Given the description of an element on the screen output the (x, y) to click on. 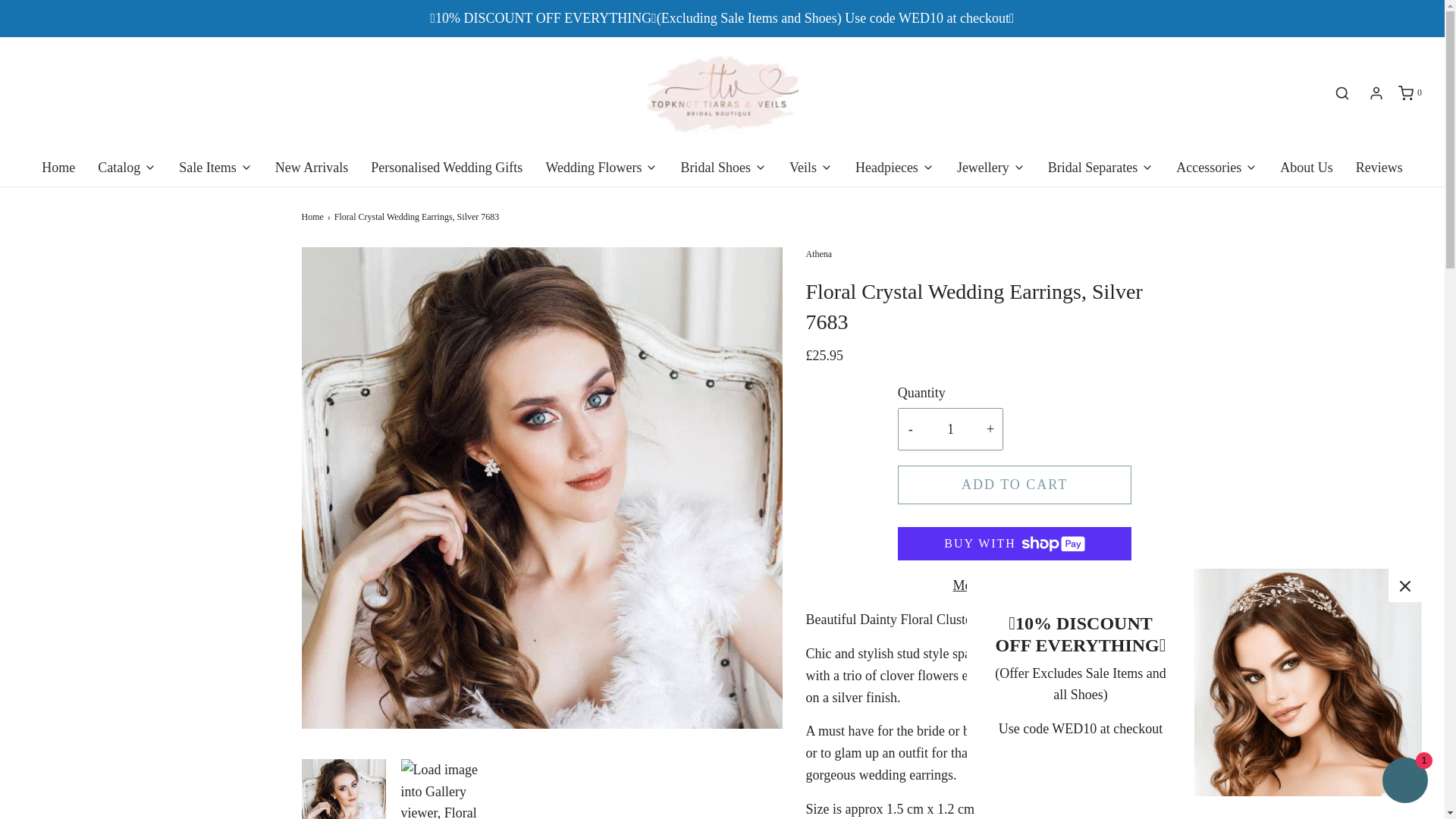
Cart (1409, 92)
1 (950, 429)
Shopify online store chat (1404, 781)
Search (1341, 93)
Back to the frontpage (314, 216)
Log in (1376, 92)
